Given the description of an element on the screen output the (x, y) to click on. 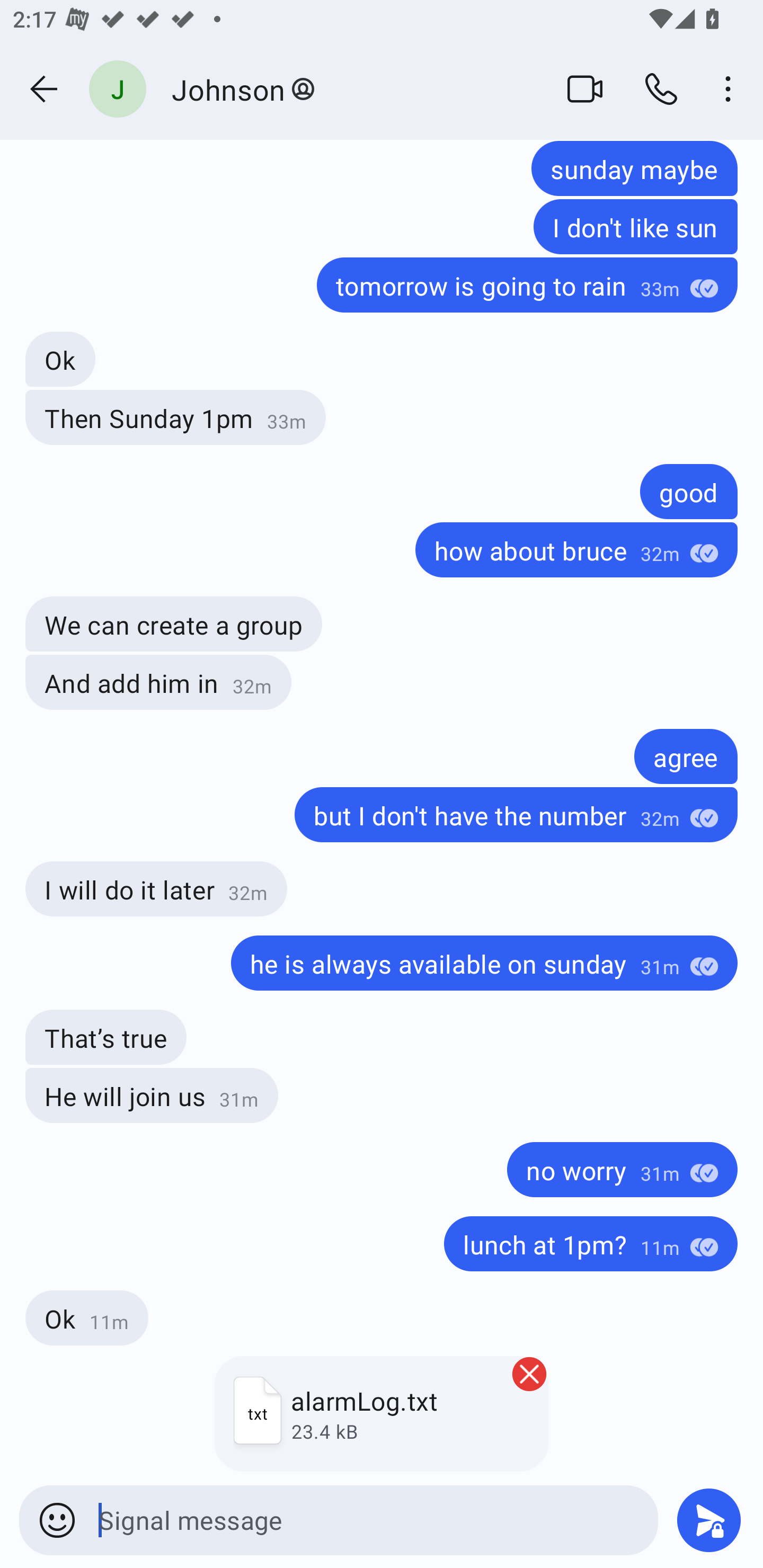
Send message (708, 1520)
